Given the description of an element on the screen output the (x, y) to click on. 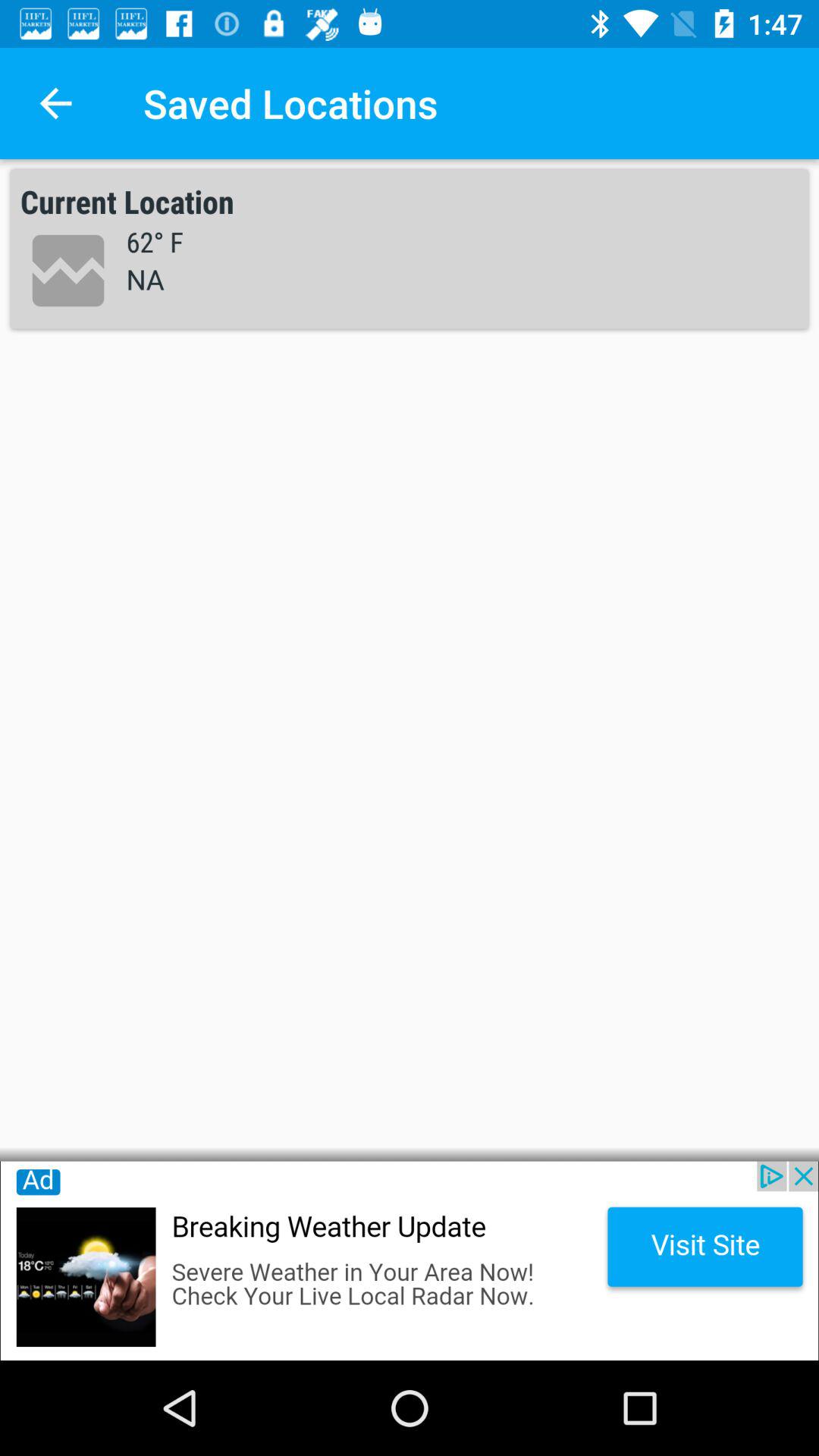
advertisement (409, 1260)
